Given the description of an element on the screen output the (x, y) to click on. 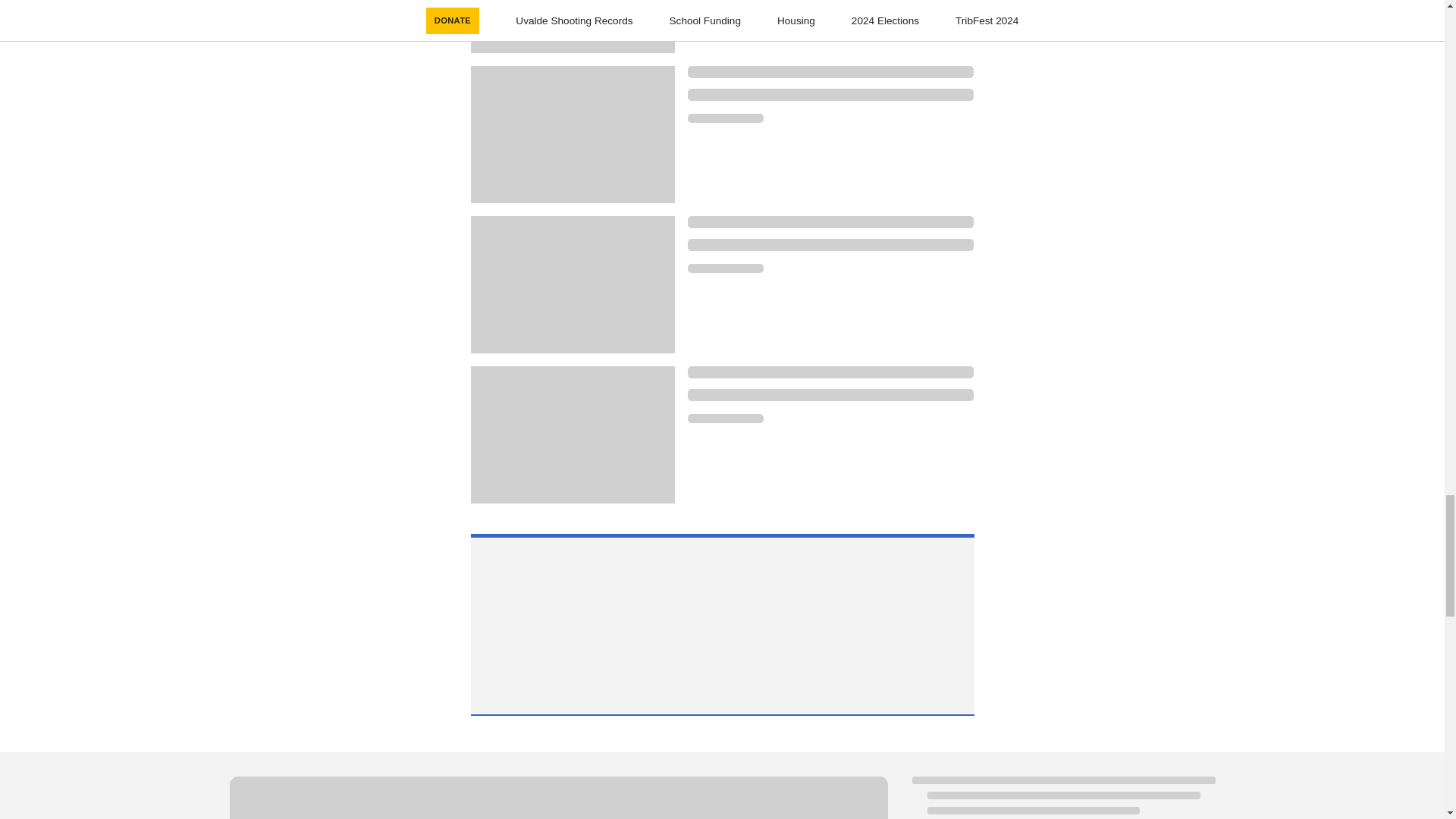
Loading indicator (830, 94)
Loading indicator (830, 222)
Loading indicator (724, 267)
Loading indicator (830, 395)
Loading indicator (724, 418)
Loading indicator (830, 71)
Loading indicator (830, 372)
Loading indicator (557, 797)
Loading indicator (724, 117)
Loading indicator (830, 244)
